Given the description of an element on the screen output the (x, y) to click on. 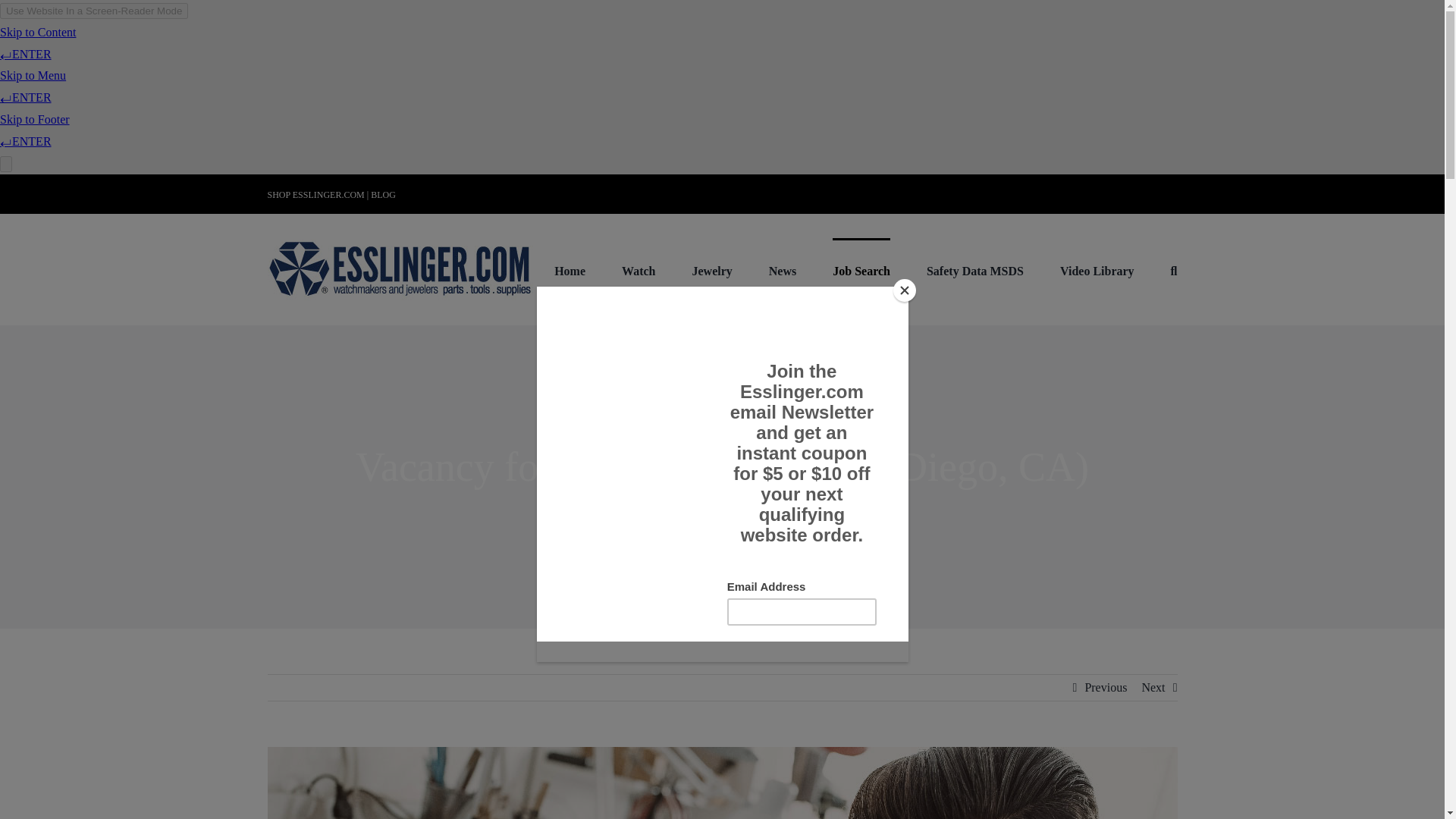
Safety Data MSDS (974, 270)
BLOG (383, 194)
Video Library (1096, 270)
SHOP ESSLINGER.COM (315, 194)
Job Search (860, 270)
Image Courtesy of Adobe Stock (721, 782)
